Given the description of an element on the screen output the (x, y) to click on. 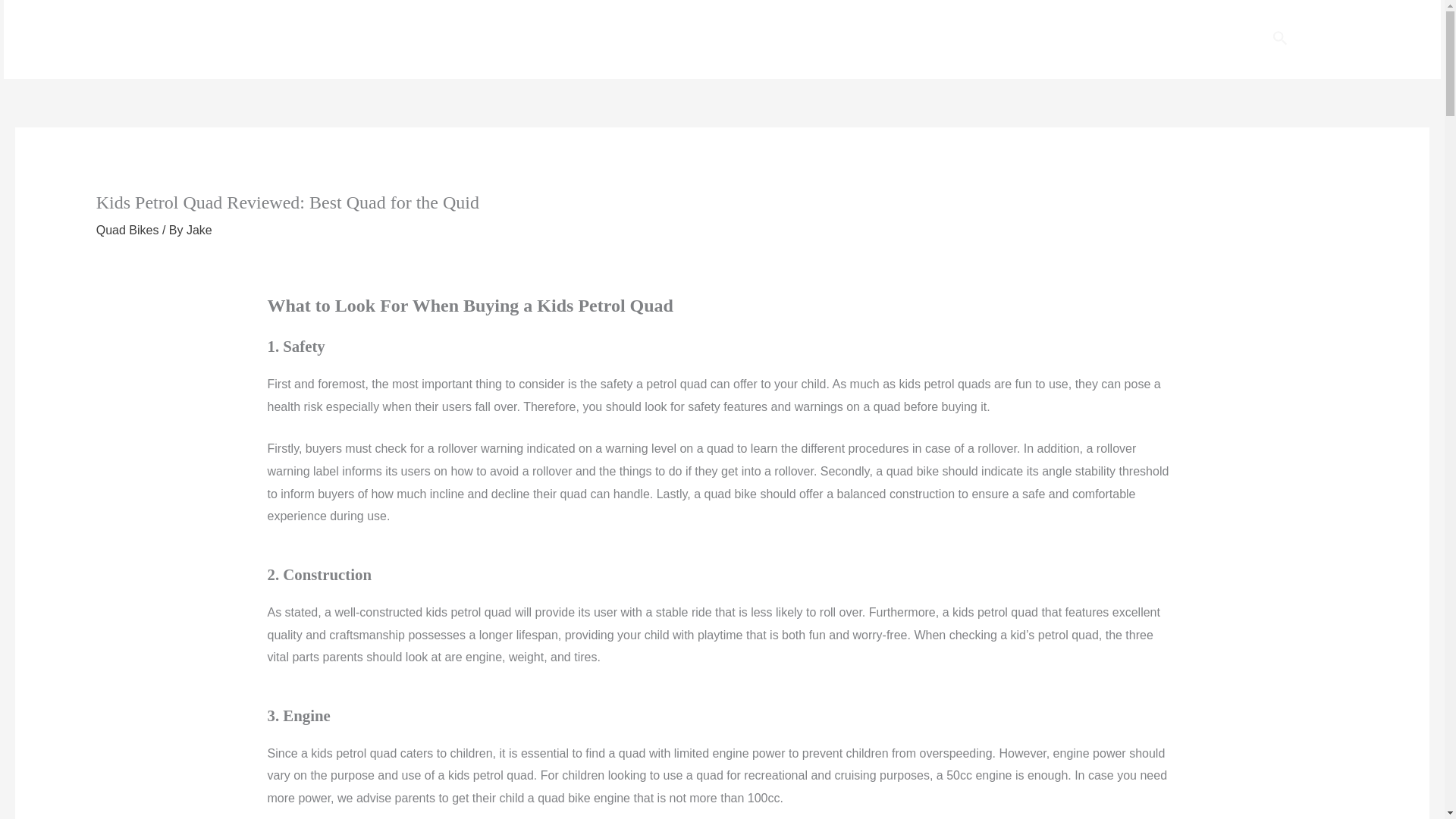
Jake (199, 229)
Quad Bikes (127, 229)
DIRT BIKES (989, 39)
QUAD BIKES (811, 39)
PIT BIKES (1078, 39)
View all posts by Jake (199, 229)
SHOP NOW (1358, 39)
ABOUT (1221, 39)
BUGGIES (902, 39)
